Given the description of an element on the screen output the (x, y) to click on. 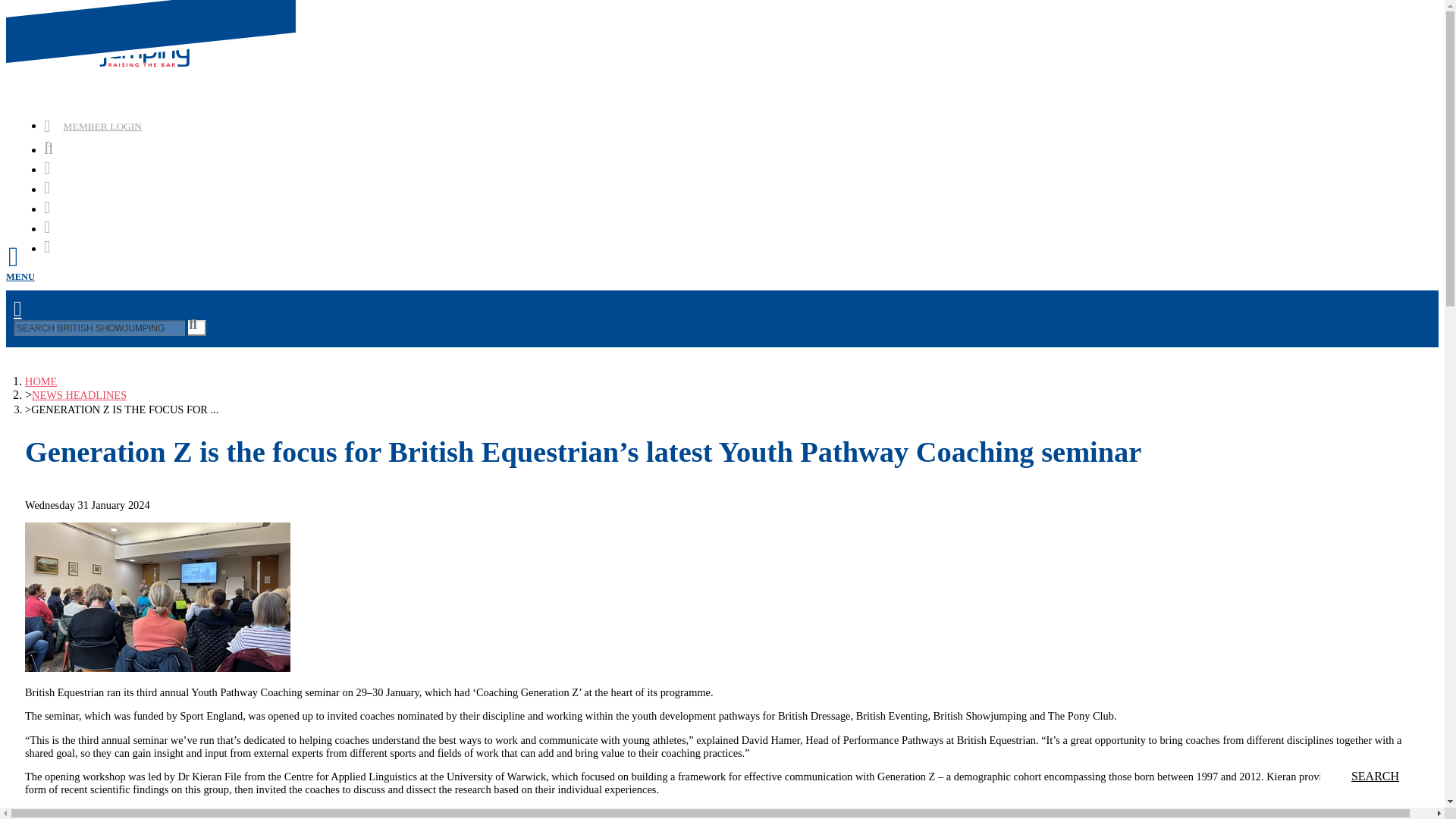
G (196, 327)
